Given the description of an element on the screen output the (x, y) to click on. 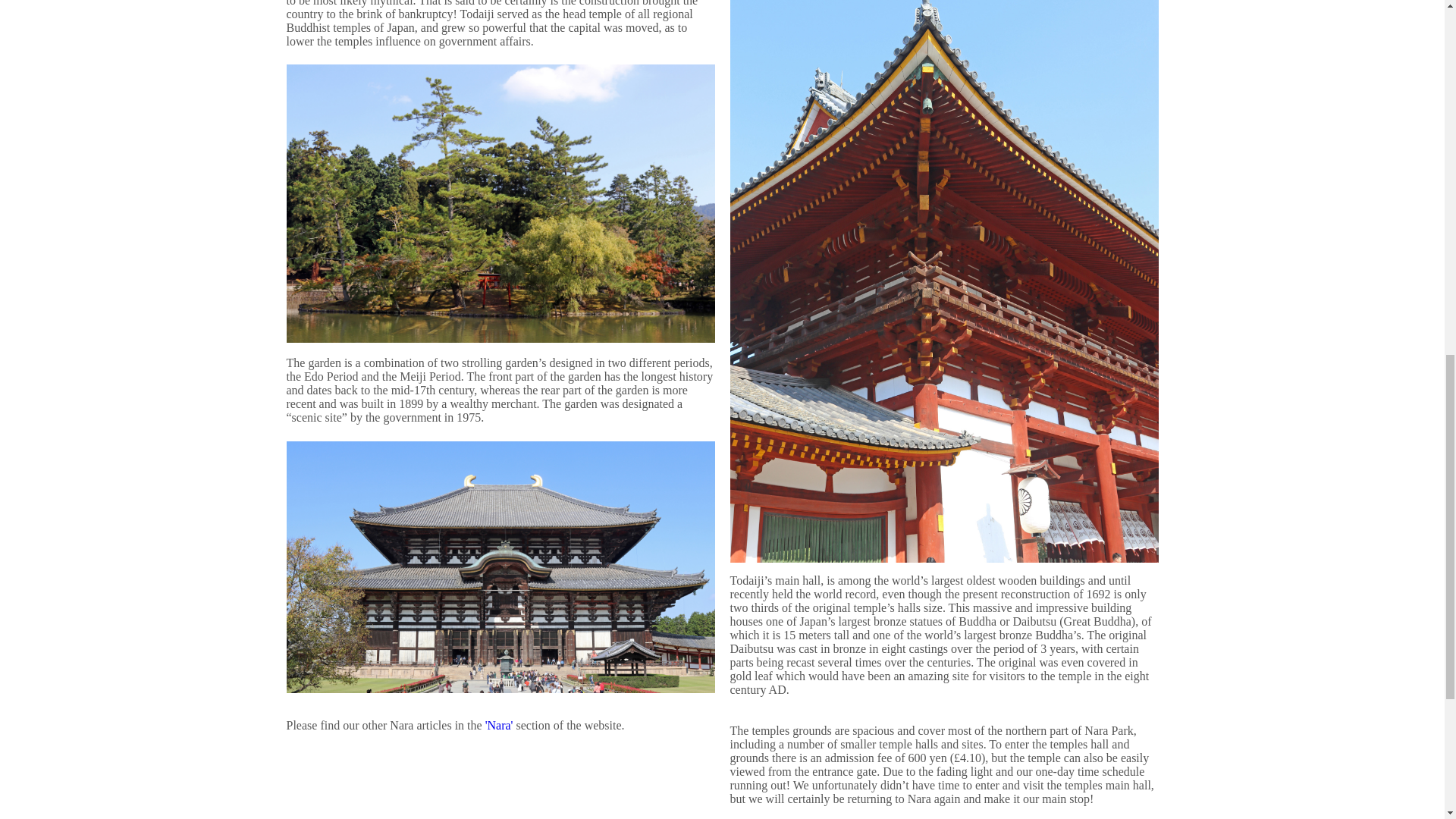
Todai-ji Temple crop (500, 566)
